Given the description of an element on the screen output the (x, y) to click on. 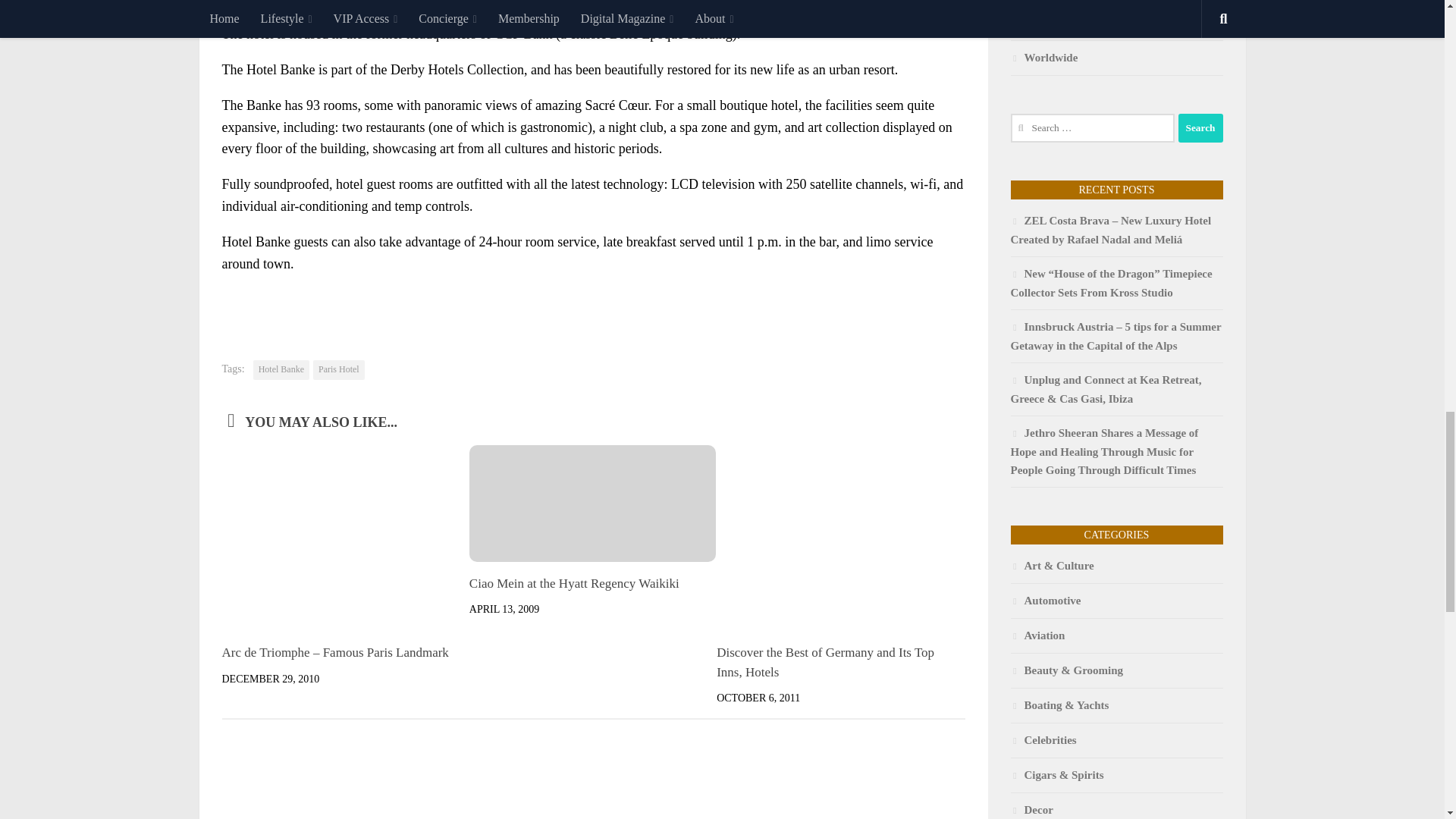
Search (1200, 127)
Print Content (953, 304)
Search (1200, 127)
